Given the description of an element on the screen output the (x, y) to click on. 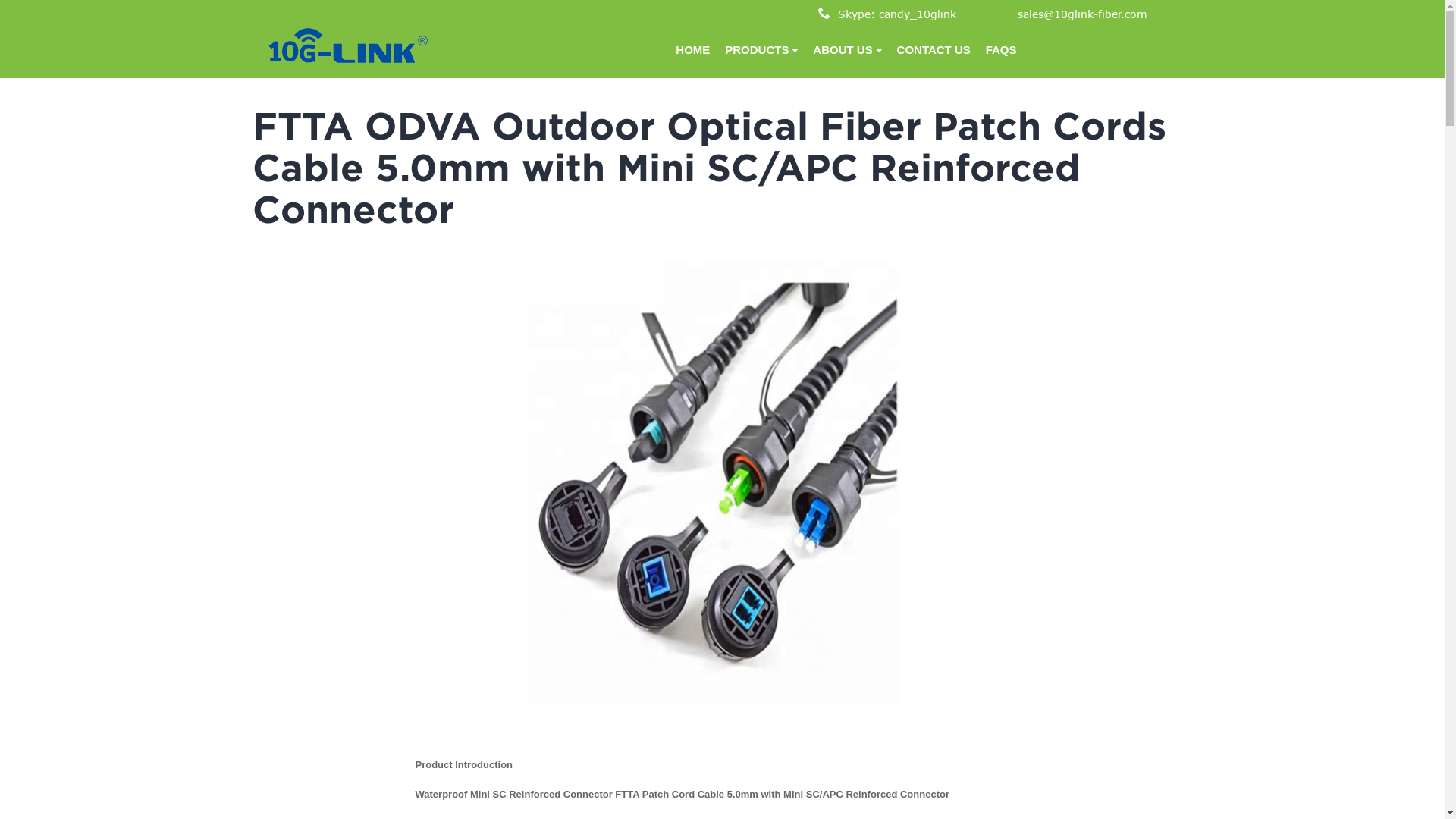
ABOUT US Element type: text (846, 49)
sales@10glink-fiber.com Element type: text (1082, 13)
PRODUCTS Element type: text (760, 49)
HOME Element type: text (692, 49)
CONTACT US Element type: text (933, 49)
FAQS Element type: text (1000, 49)
